Given the description of an element on the screen output the (x, y) to click on. 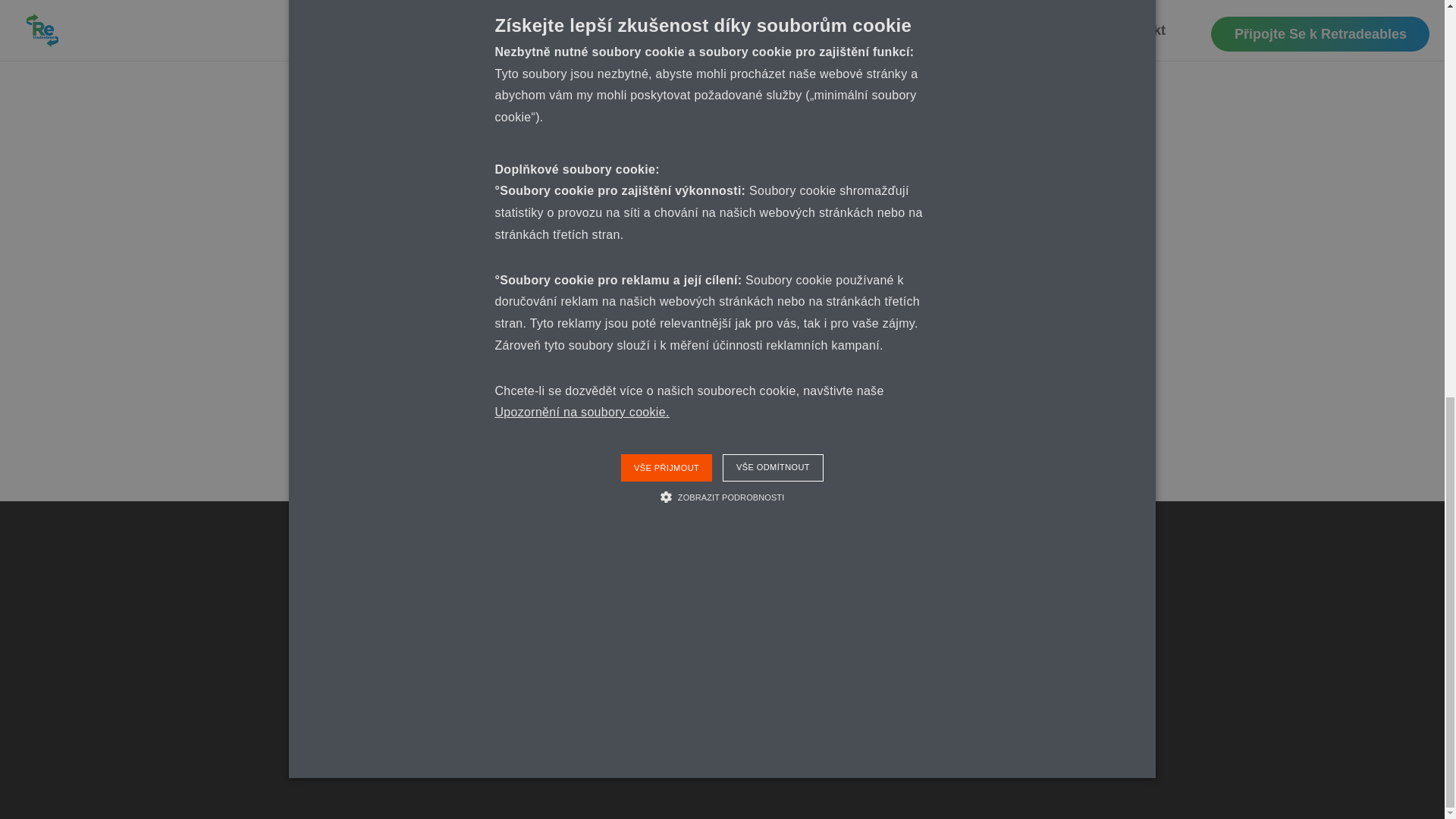
Cookie Notice (990, 630)
contact us (628, 375)
Retradeables (386, 375)
Postupujte podle LinkedIn (1088, 771)
Imprint (967, 545)
LIFE Programme (863, 152)
Postupujte podle Youtube (1118, 771)
Imprint (967, 545)
